Given the description of an element on the screen output the (x, y) to click on. 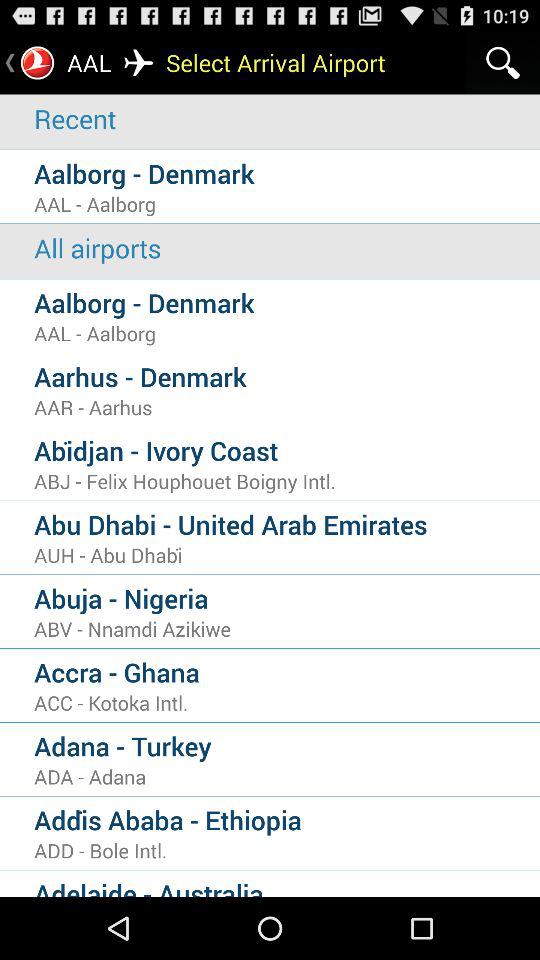
flip to all airports item (287, 247)
